Given the description of an element on the screen output the (x, y) to click on. 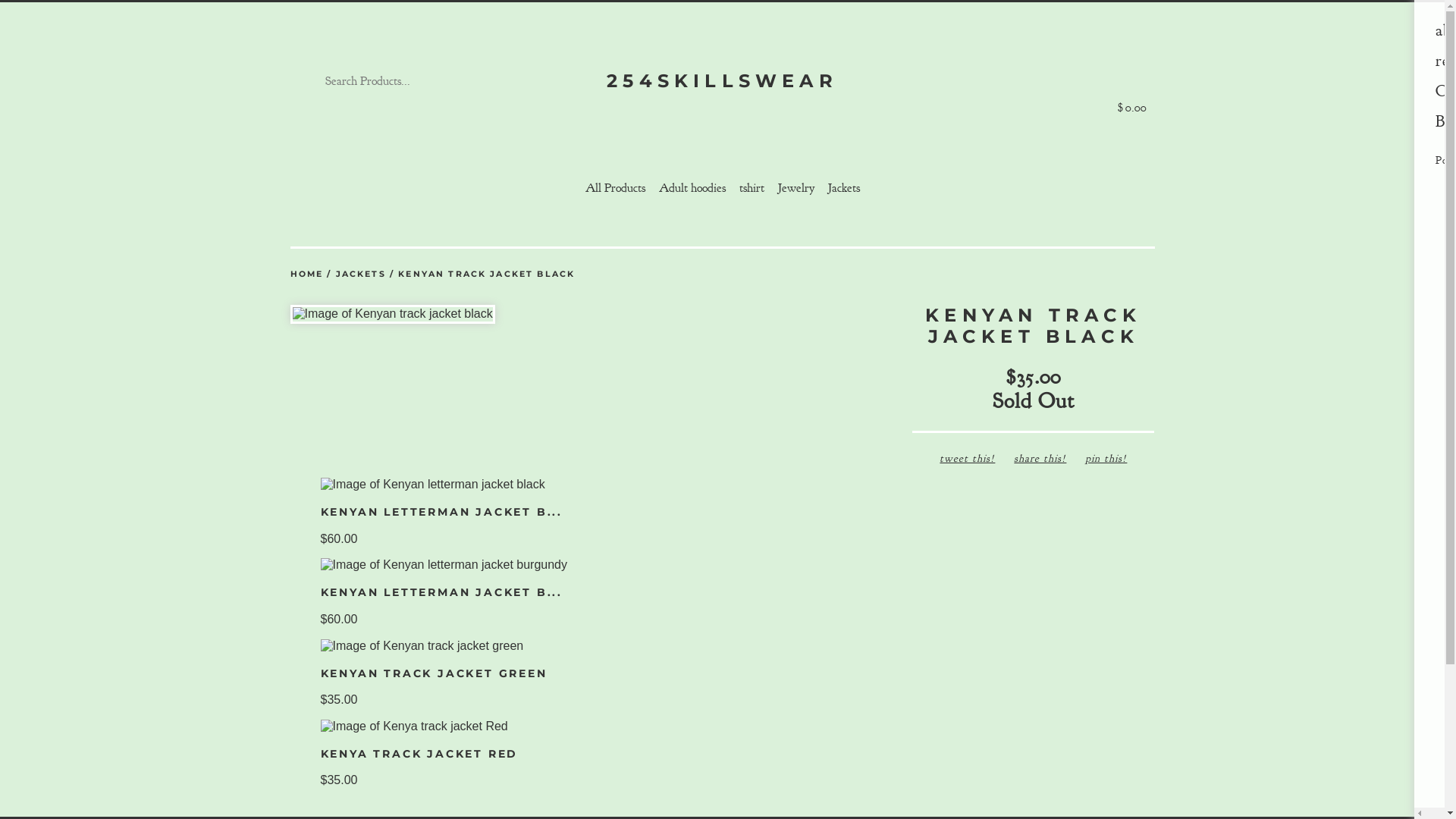
tshirt Element type: text (750, 187)
KENYAN TRACK JACKET GREEN
$35.00 Element type: text (721, 672)
$0.00 Element type: text (1131, 80)
KENYA TRACK JACKET RED
$35.00 Element type: text (721, 753)
KENYAN LETTERMAN JACKET B...
$60.00 Element type: text (721, 511)
HOME Element type: text (306, 274)
tweet this! Element type: text (966, 457)
All Products Element type: text (615, 187)
Jackets Element type: text (844, 187)
Adult hoodies Element type: text (691, 187)
pin this! Element type: text (1105, 457)
share this! Element type: text (1039, 457)
KENYAN LETTERMAN JACKET B...
$60.00 Element type: text (721, 592)
Menu Element type: text (1413, 42)
JACKETS Element type: text (360, 274)
KENYAN TRACK JACKET BLACK Element type: text (486, 274)
254SKILLSWEAR Element type: text (721, 80)
Go Element type: text (483, 80)
Jewelry Element type: text (795, 187)
